Given the description of an element on the screen output the (x, y) to click on. 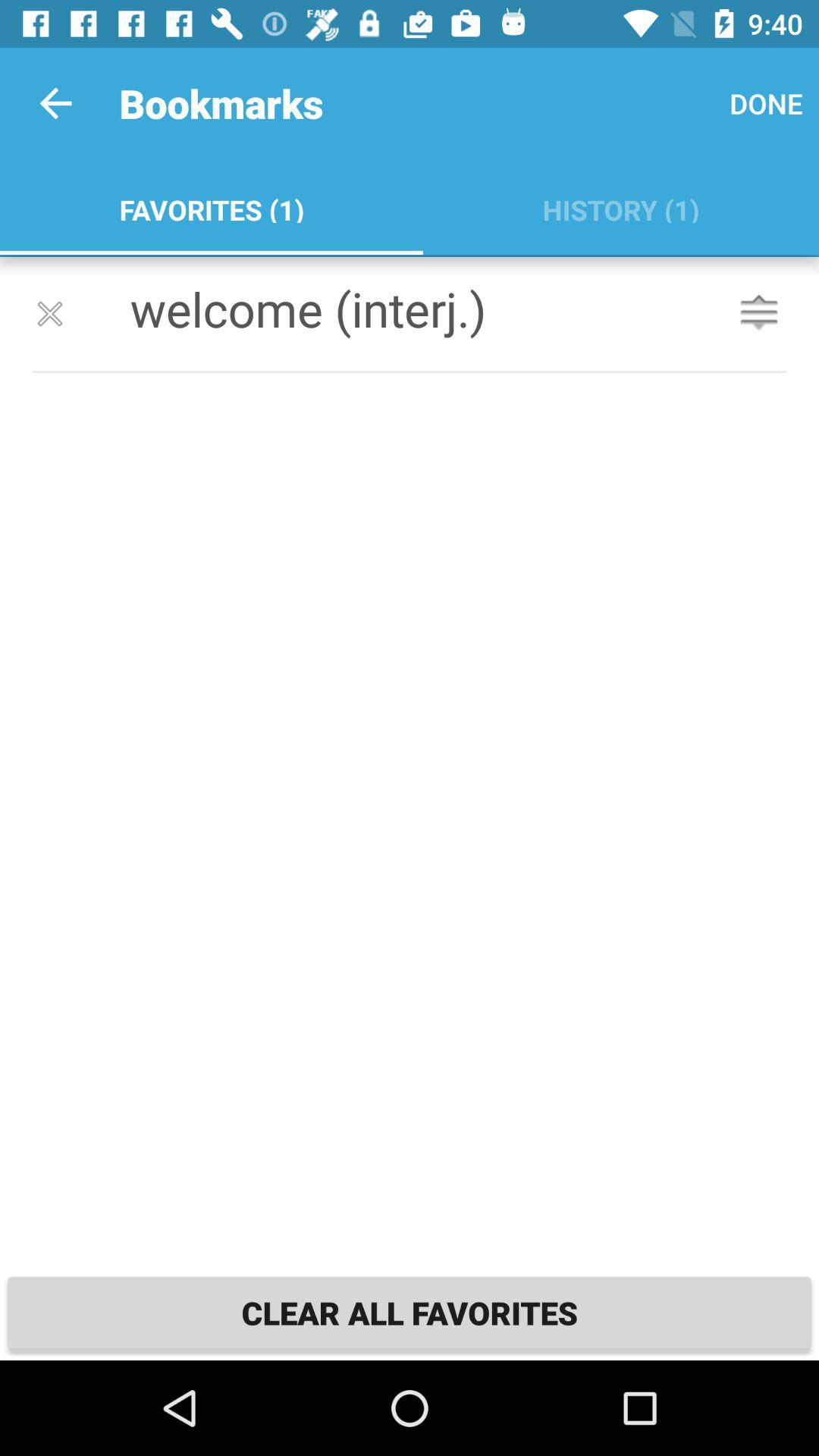
tap item next to the bookmarks item (55, 103)
